Given the description of an element on the screen output the (x, y) to click on. 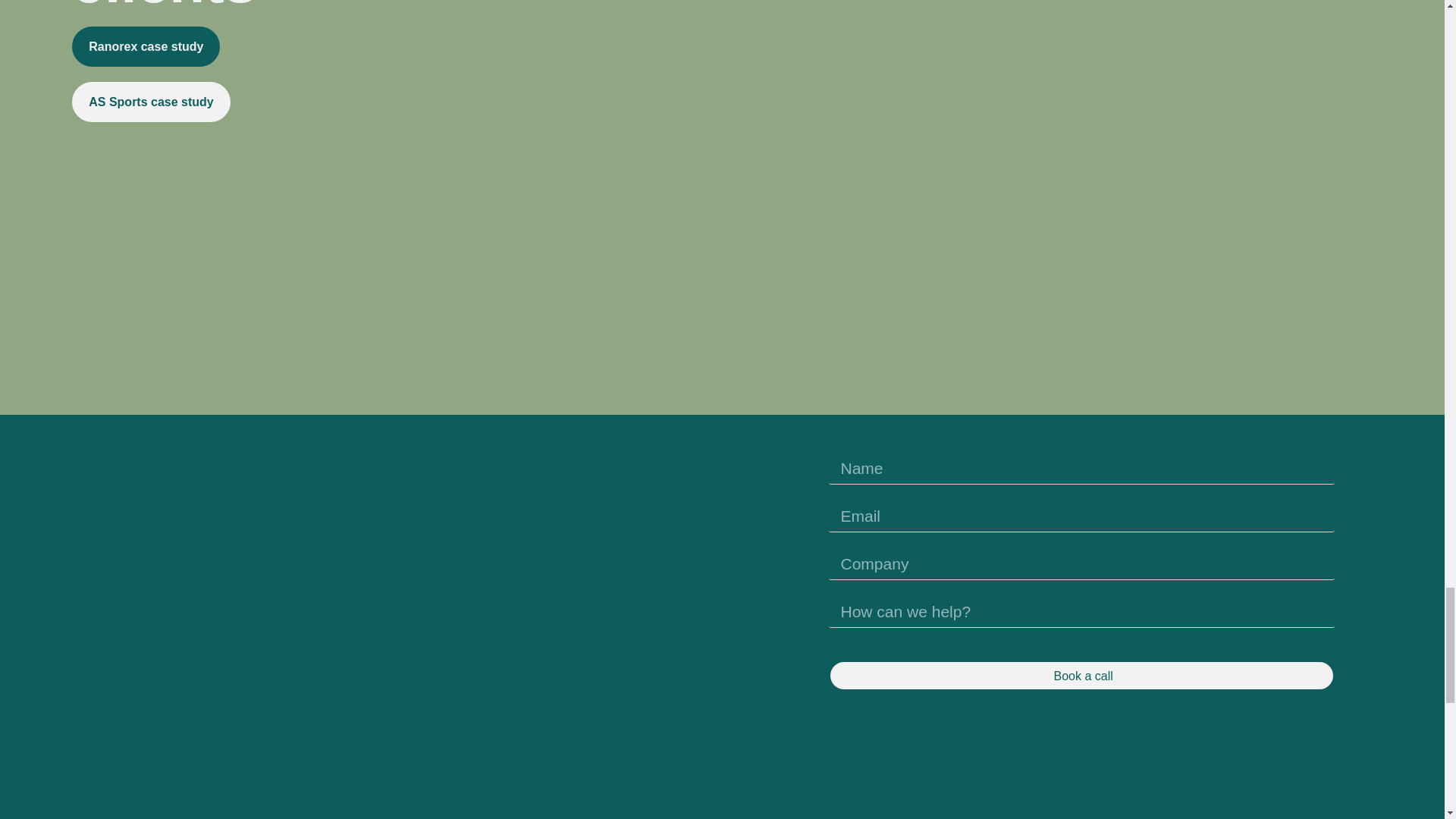
Book a call (1081, 675)
AS Sports case study (150, 101)
Ranorex case study (145, 46)
